Given the description of an element on the screen output the (x, y) to click on. 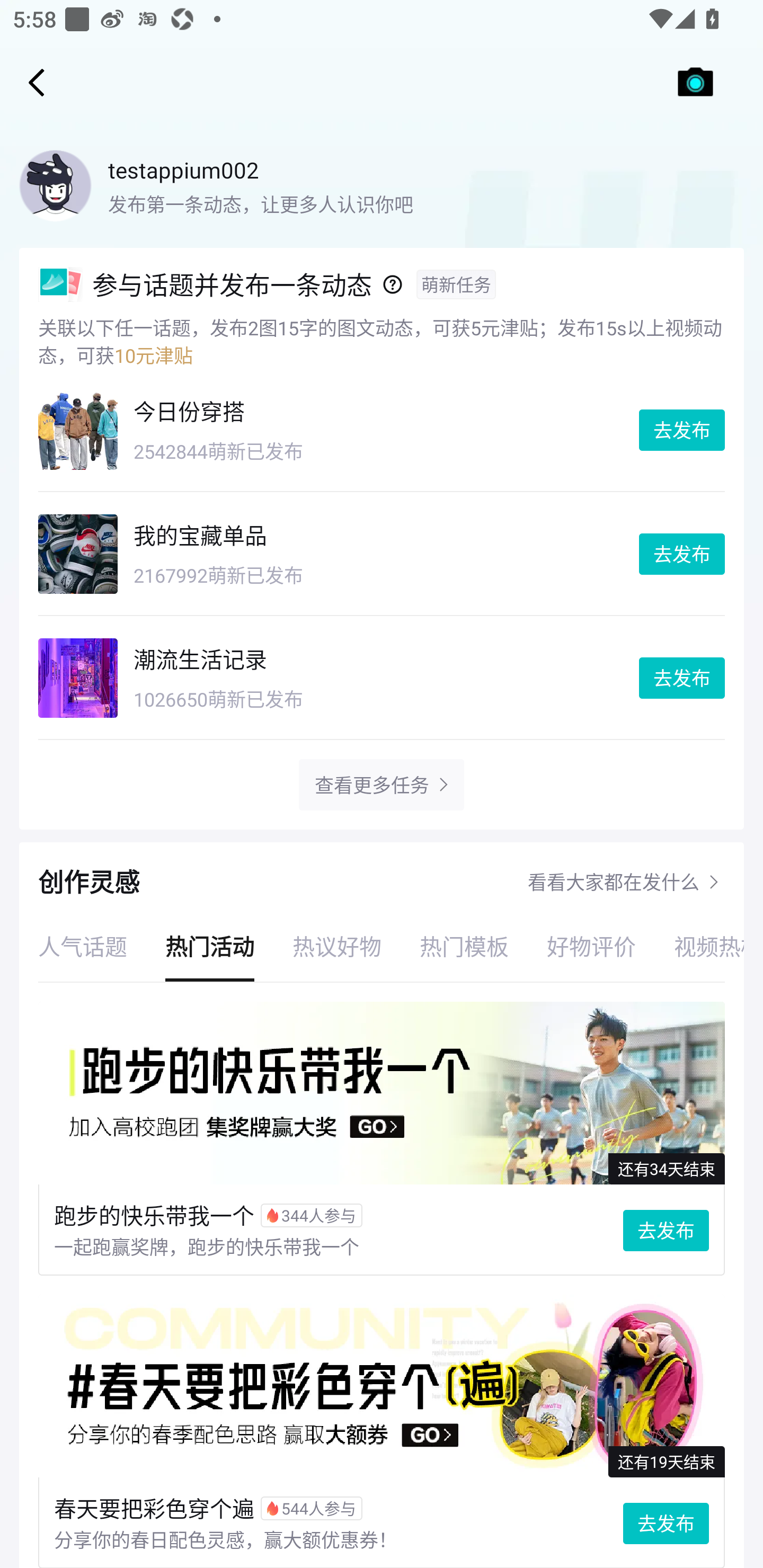
Navigate up (36, 82)
去发布 (681, 430)
去发布 (681, 554)
去发布 (681, 677)
查看更多任务 (371, 784)
人气话题 (82, 946)
热议好物 (336, 946)
热门模板 (463, 946)
好物评价 (590, 946)
视频热榜 (698, 946)
还有34天结束 跑步的快乐带我一个 344人参与 一起跑赢奖牌，跑步的快乐带我一个 去发布 (381, 1138)
还有19天结束 春天要把彩色穿个遍 544人参与 分享你的春日配色灵感，赢大额优惠券！ 去发布 (381, 1431)
